Given the description of an element on the screen output the (x, y) to click on. 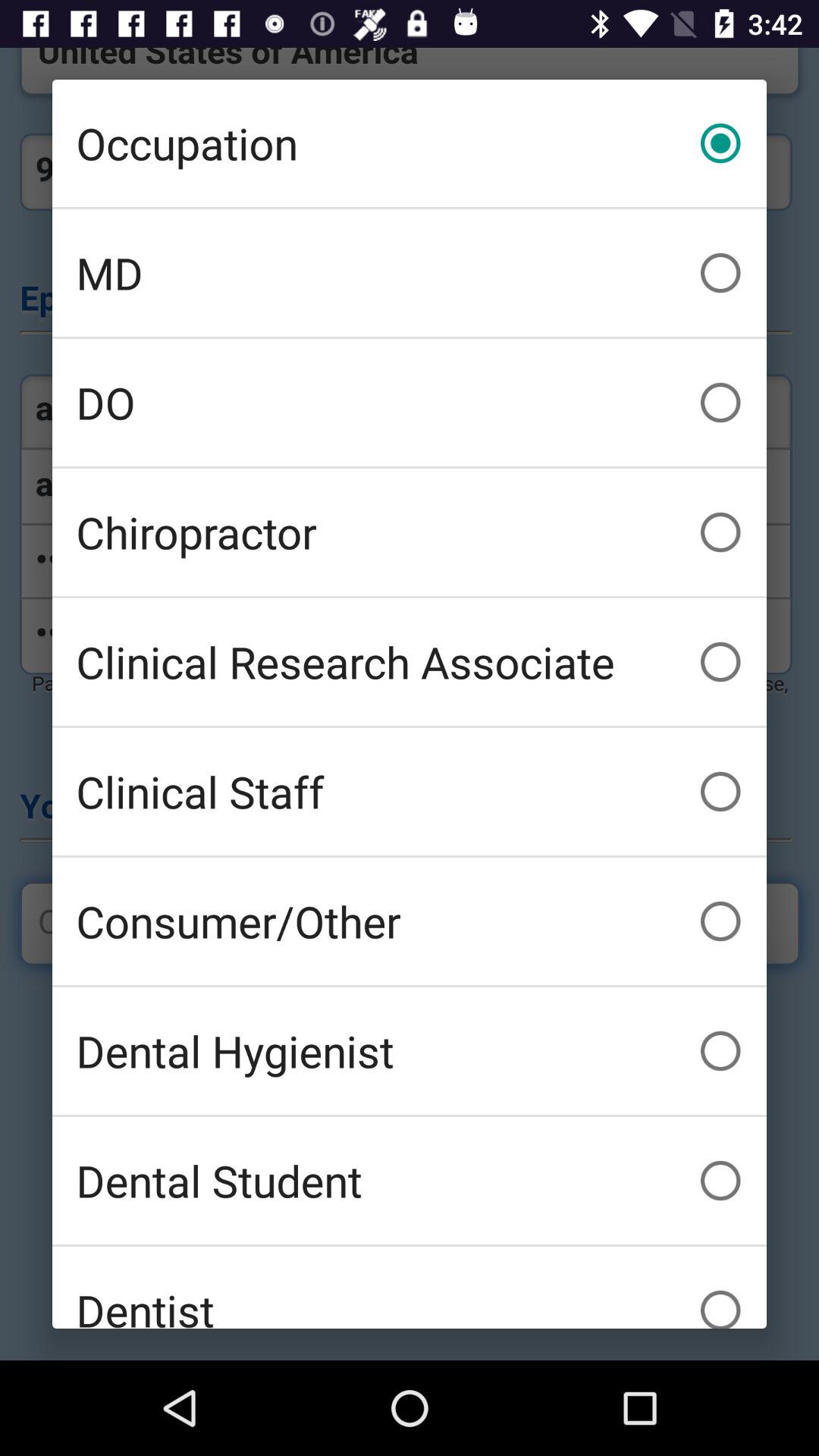
choose icon above chiropractor icon (409, 402)
